Given the description of an element on the screen output the (x, y) to click on. 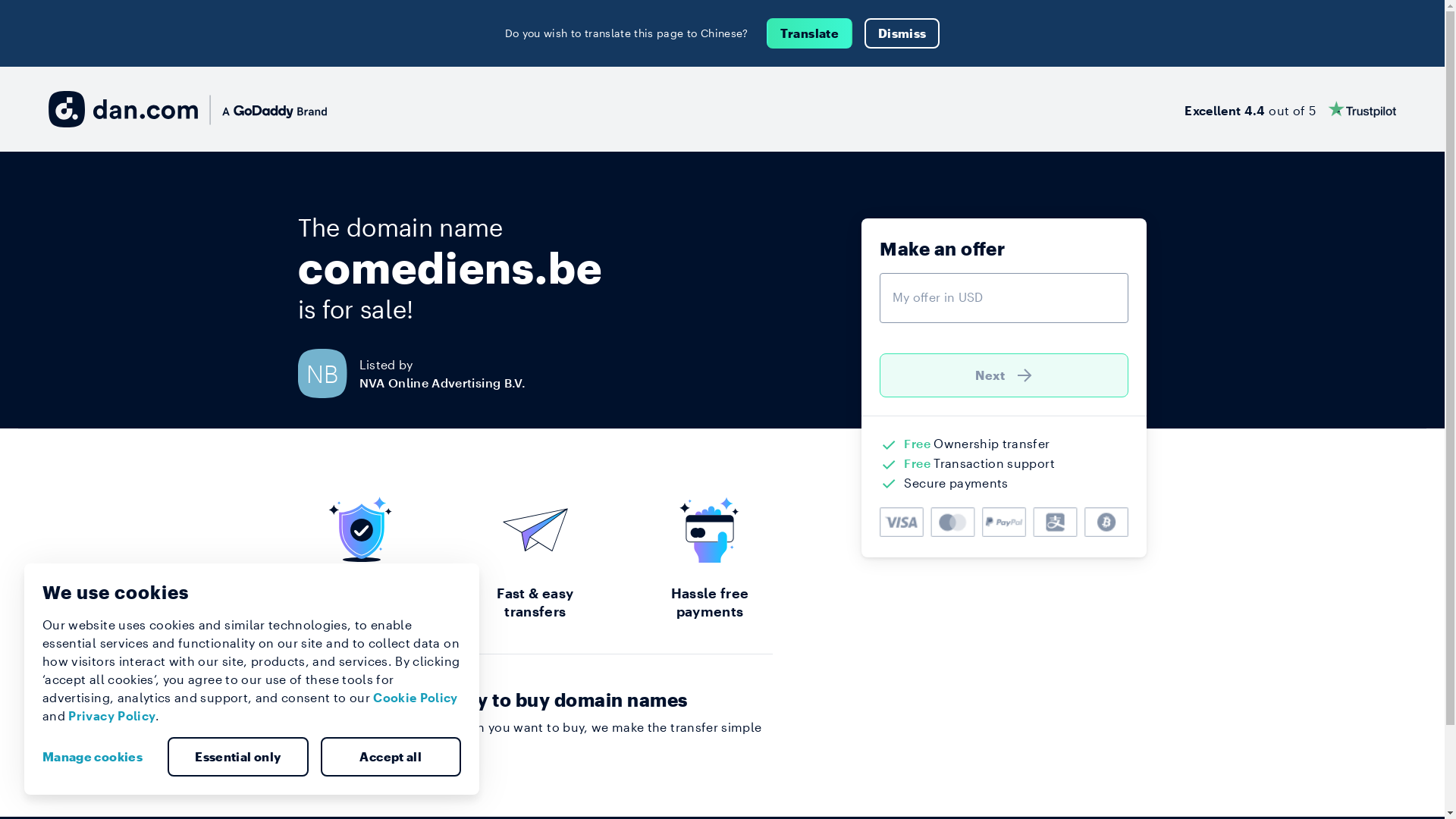
Essential only Element type: text (237, 756)
Accept all Element type: text (390, 756)
Excellent 4.4 out of 5 Element type: text (1290, 109)
Dismiss Element type: text (901, 33)
Privacy Policy Element type: text (111, 715)
Translate Element type: text (809, 33)
Cookie Policy Element type: text (415, 697)
Manage cookies Element type: text (98, 756)
Next
) Element type: text (1003, 375)
